Given the description of an element on the screen output the (x, y) to click on. 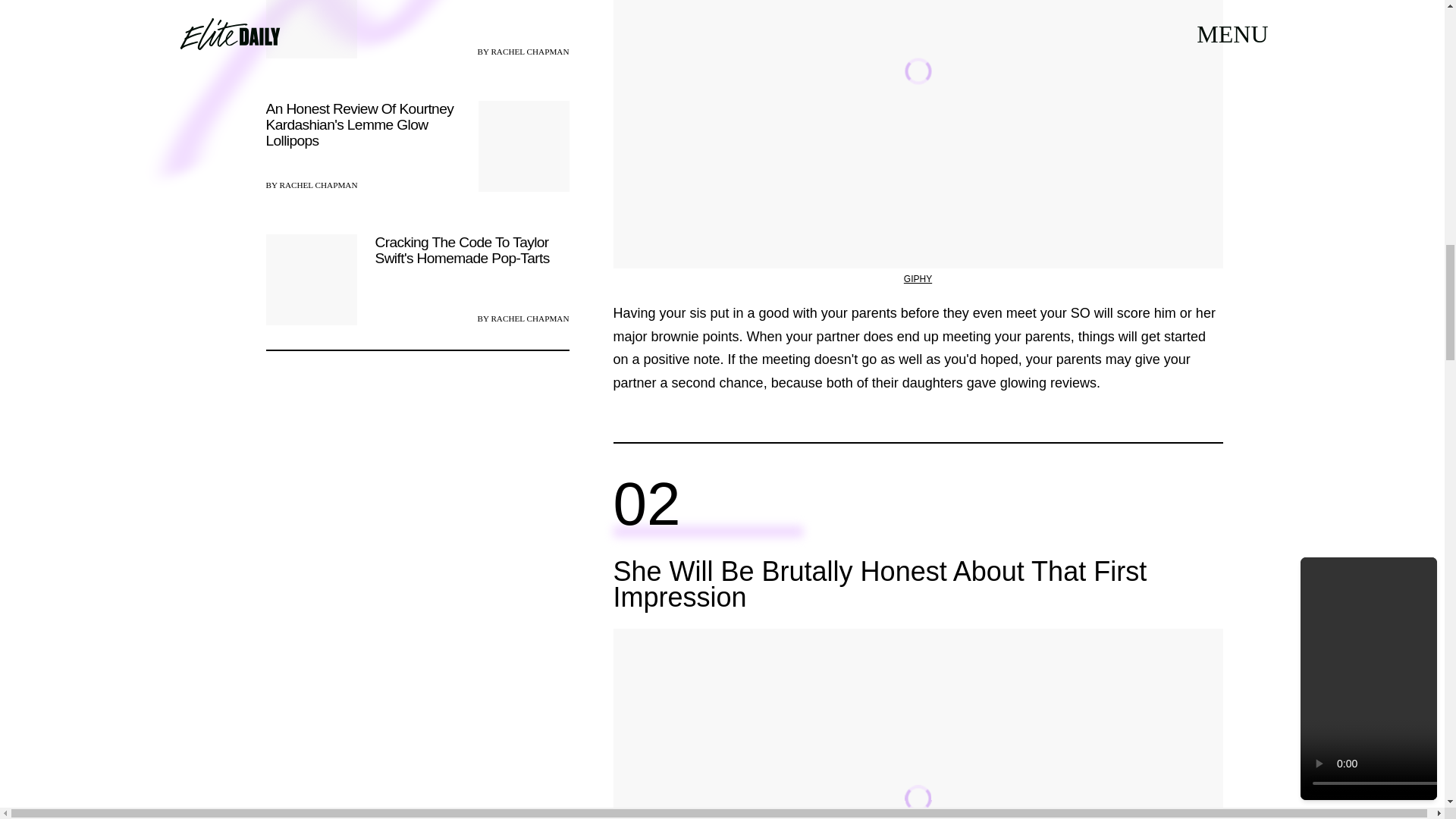
GIPHY (917, 278)
